Given the description of an element on the screen output the (x, y) to click on. 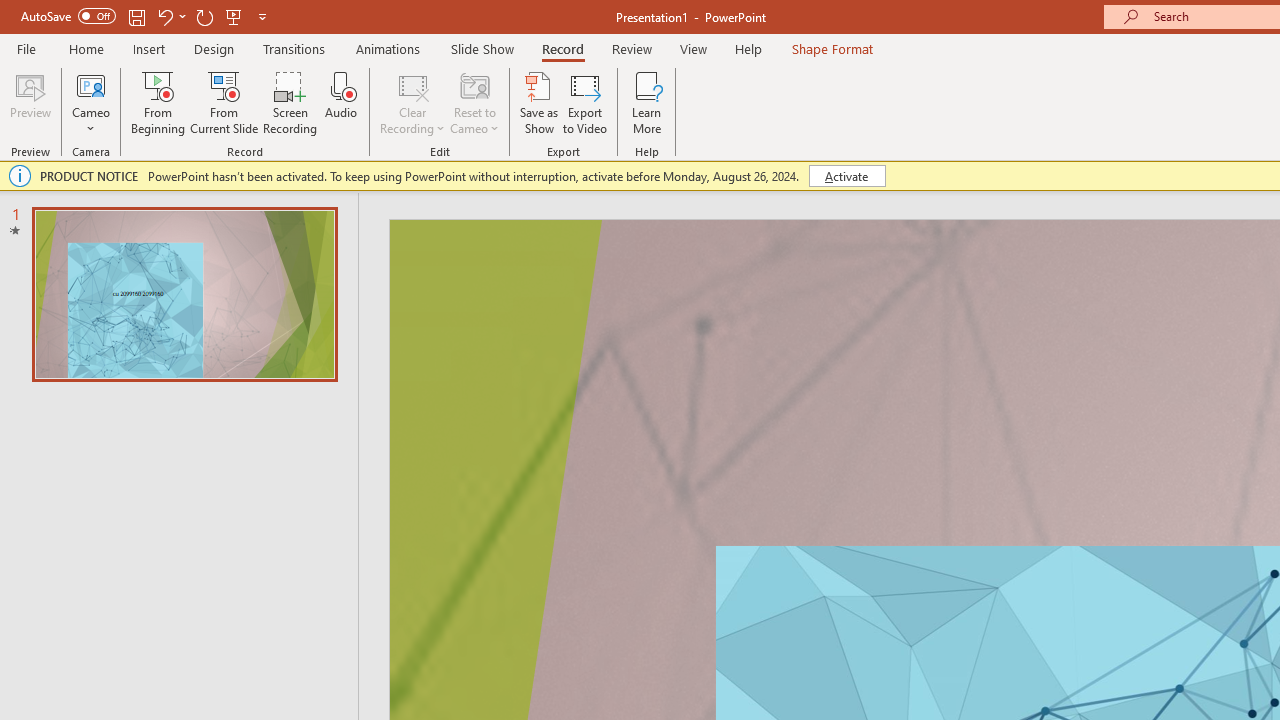
Save (136, 15)
Design (214, 48)
Preview (30, 102)
Record (562, 48)
Animations (388, 48)
Undo (164, 15)
Redo (204, 15)
Review (631, 48)
Cameo (91, 102)
Slide Show (481, 48)
Quick Access Toolbar (145, 16)
Audio (341, 102)
Insert (149, 48)
Save as Show (539, 102)
From Beginning... (158, 102)
